Given the description of an element on the screen output the (x, y) to click on. 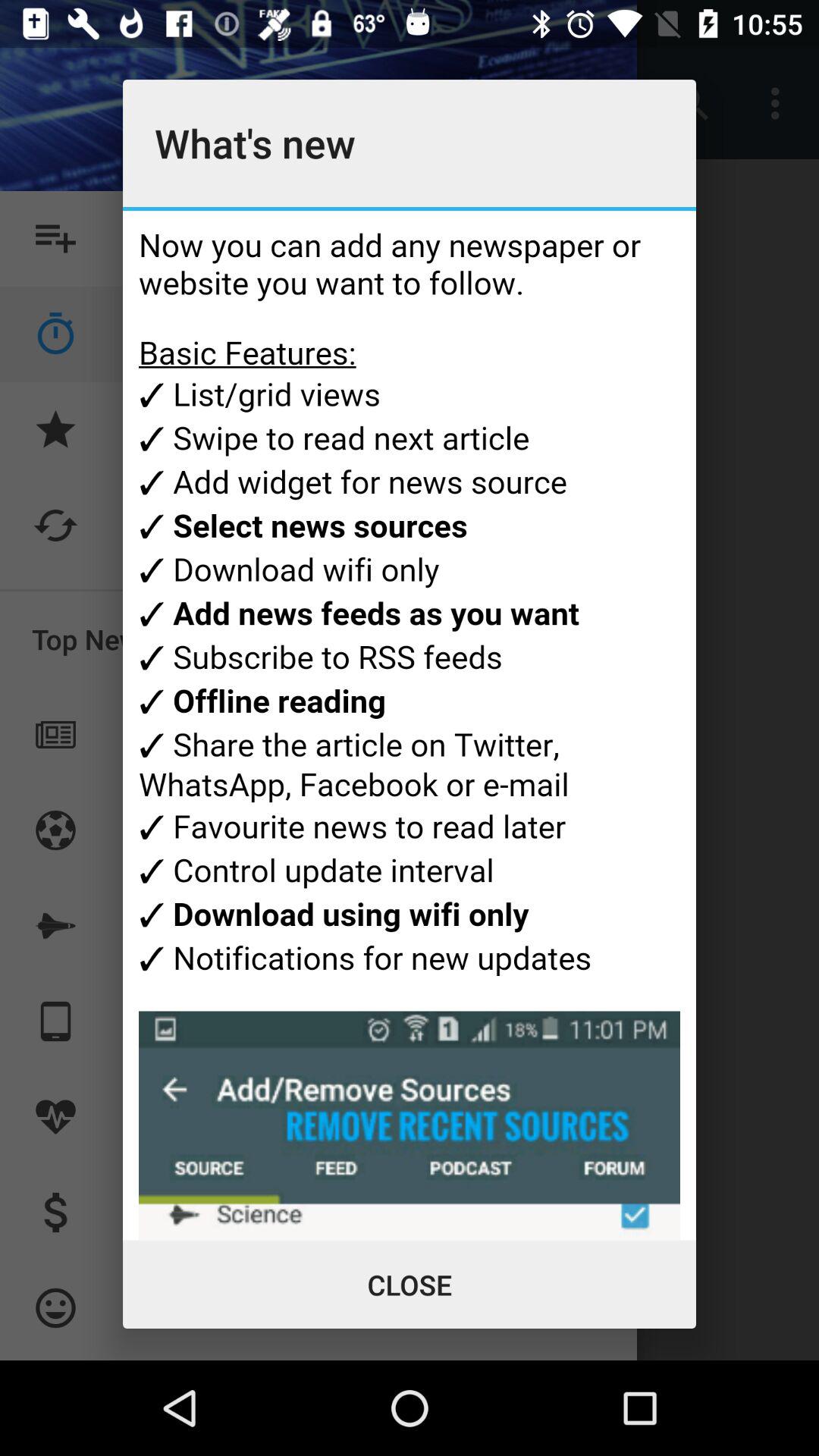
advertisement page (409, 725)
